Given the description of an element on the screen output the (x, y) to click on. 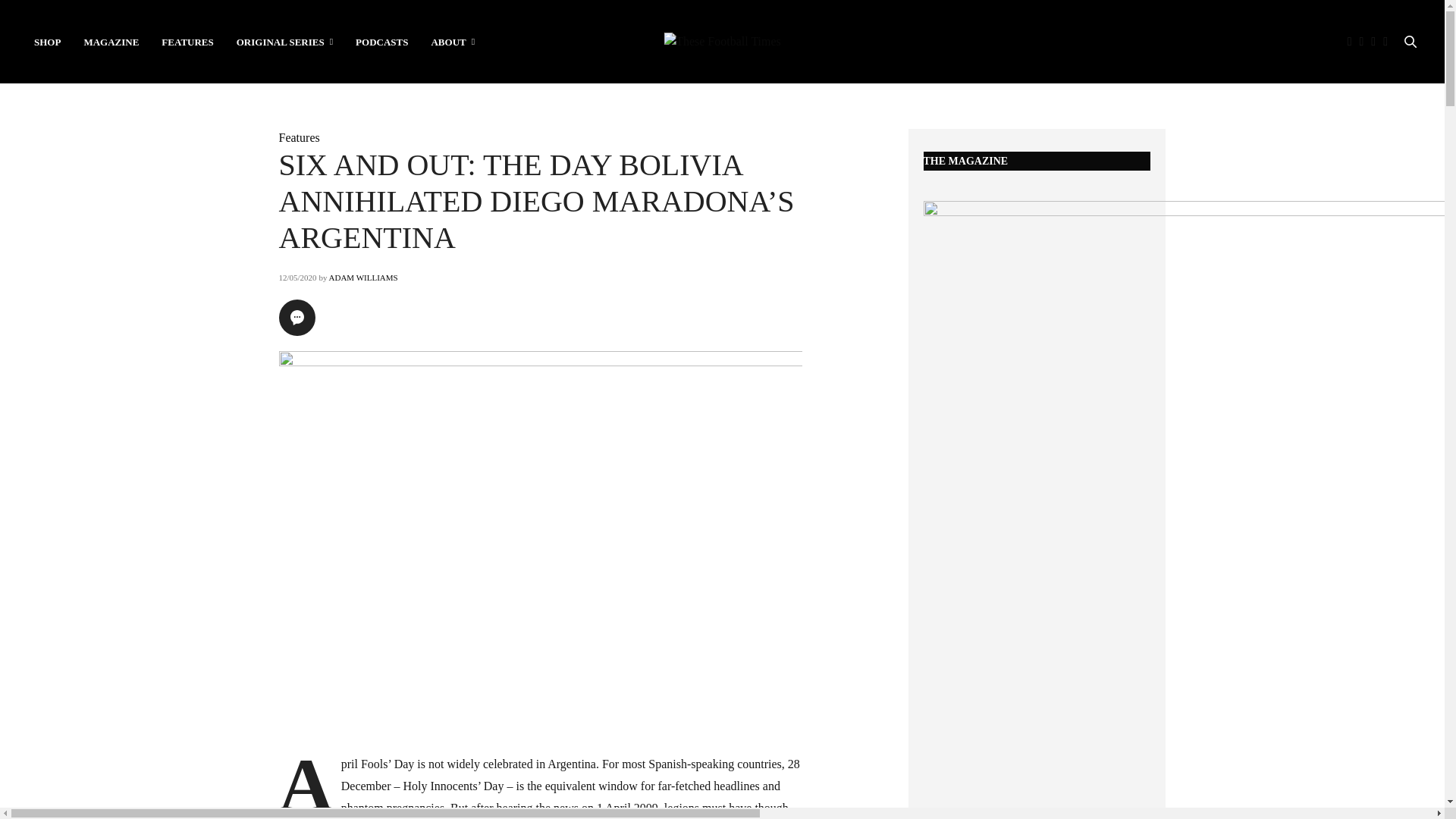
Posts by Adam Williams (363, 276)
MAGAZINE (110, 41)
FEATURES (186, 41)
ORIGINAL SERIES (284, 41)
These Football Times (721, 41)
